Given the description of an element on the screen output the (x, y) to click on. 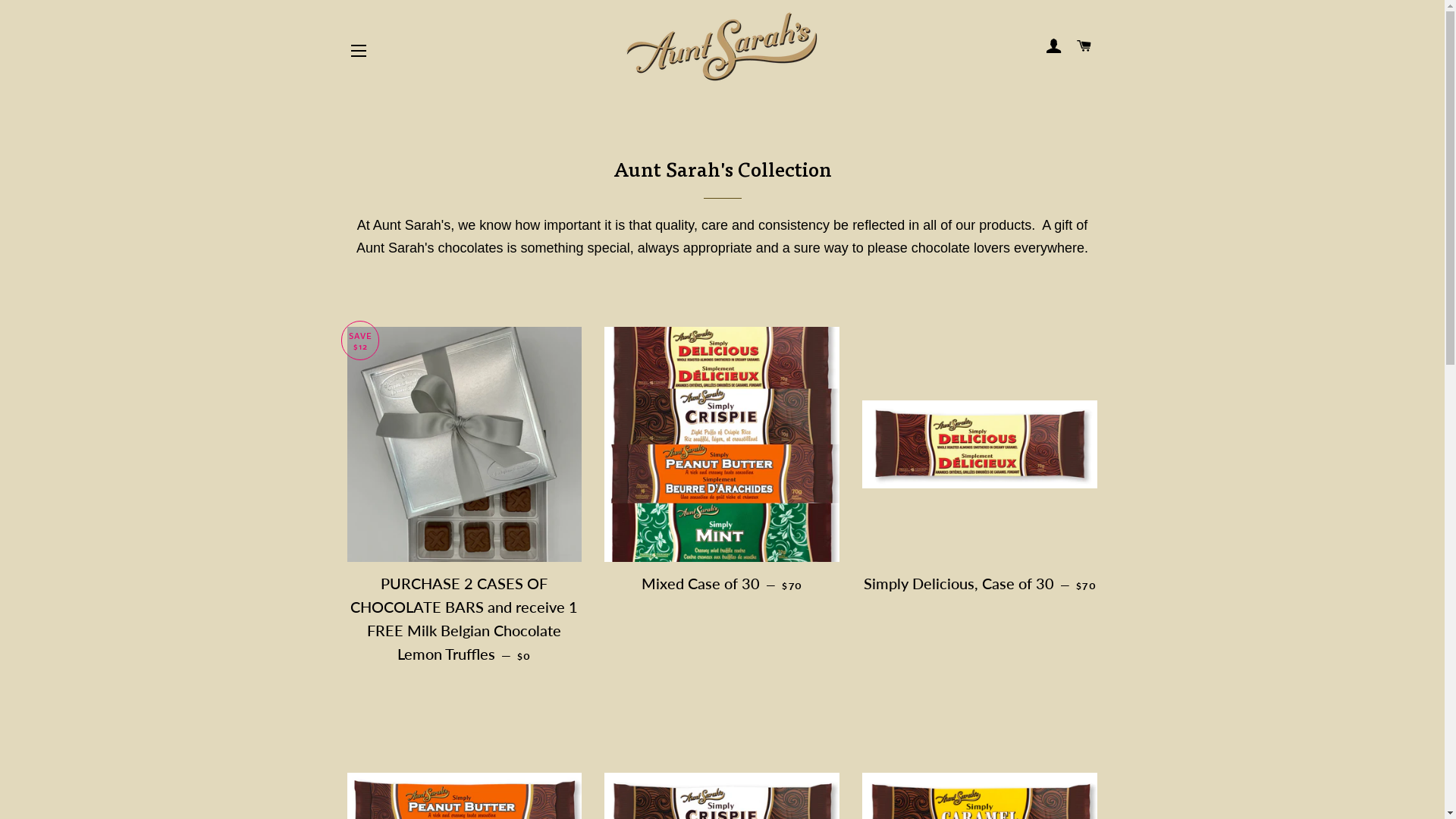
SITE NAVIGATION Element type: text (358, 50)
CART Element type: text (1083, 46)
LOG IN Element type: text (1054, 46)
